Given the description of an element on the screen output the (x, y) to click on. 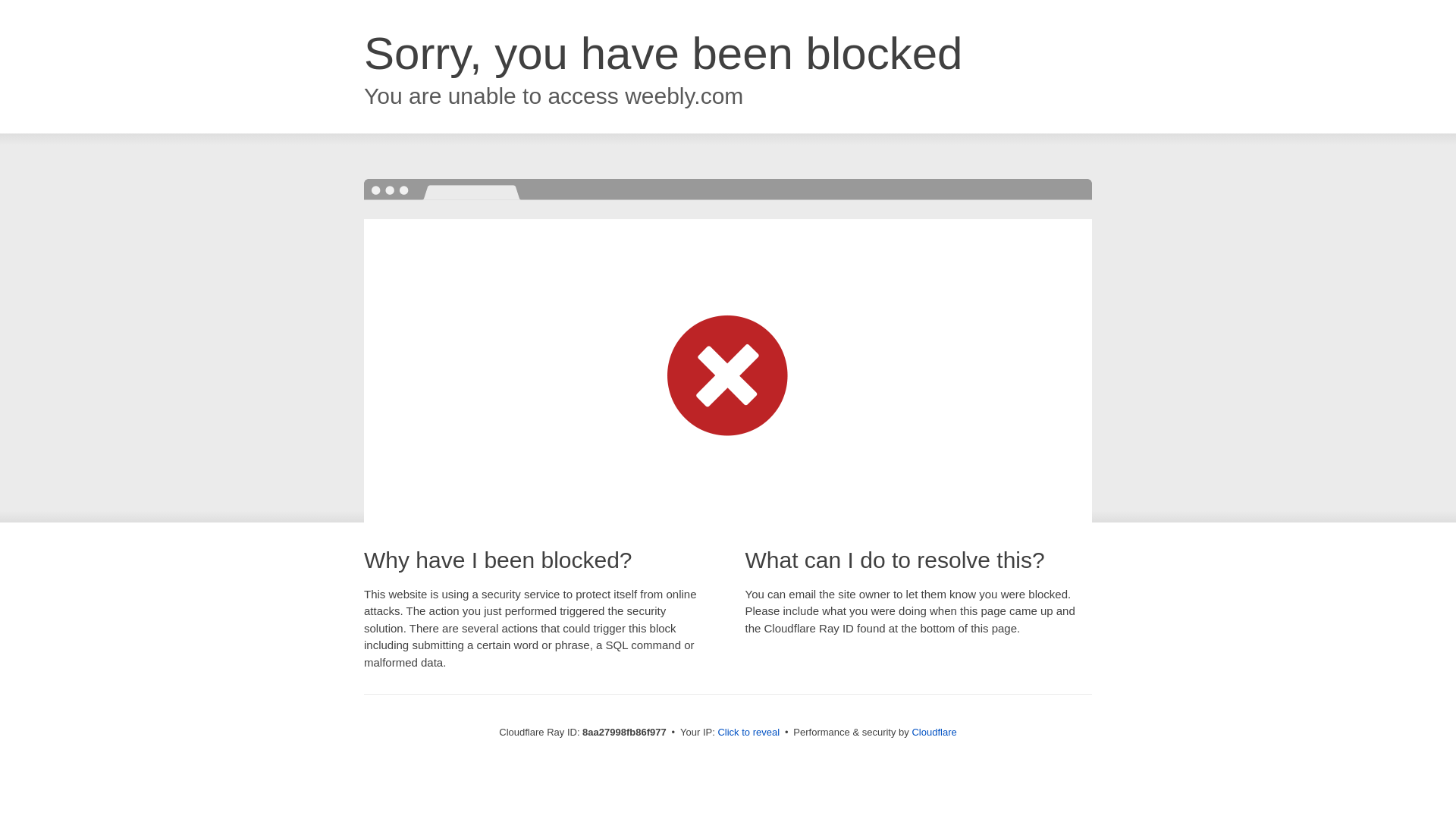
Cloudflare (933, 731)
Click to reveal (747, 732)
